Given the description of an element on the screen output the (x, y) to click on. 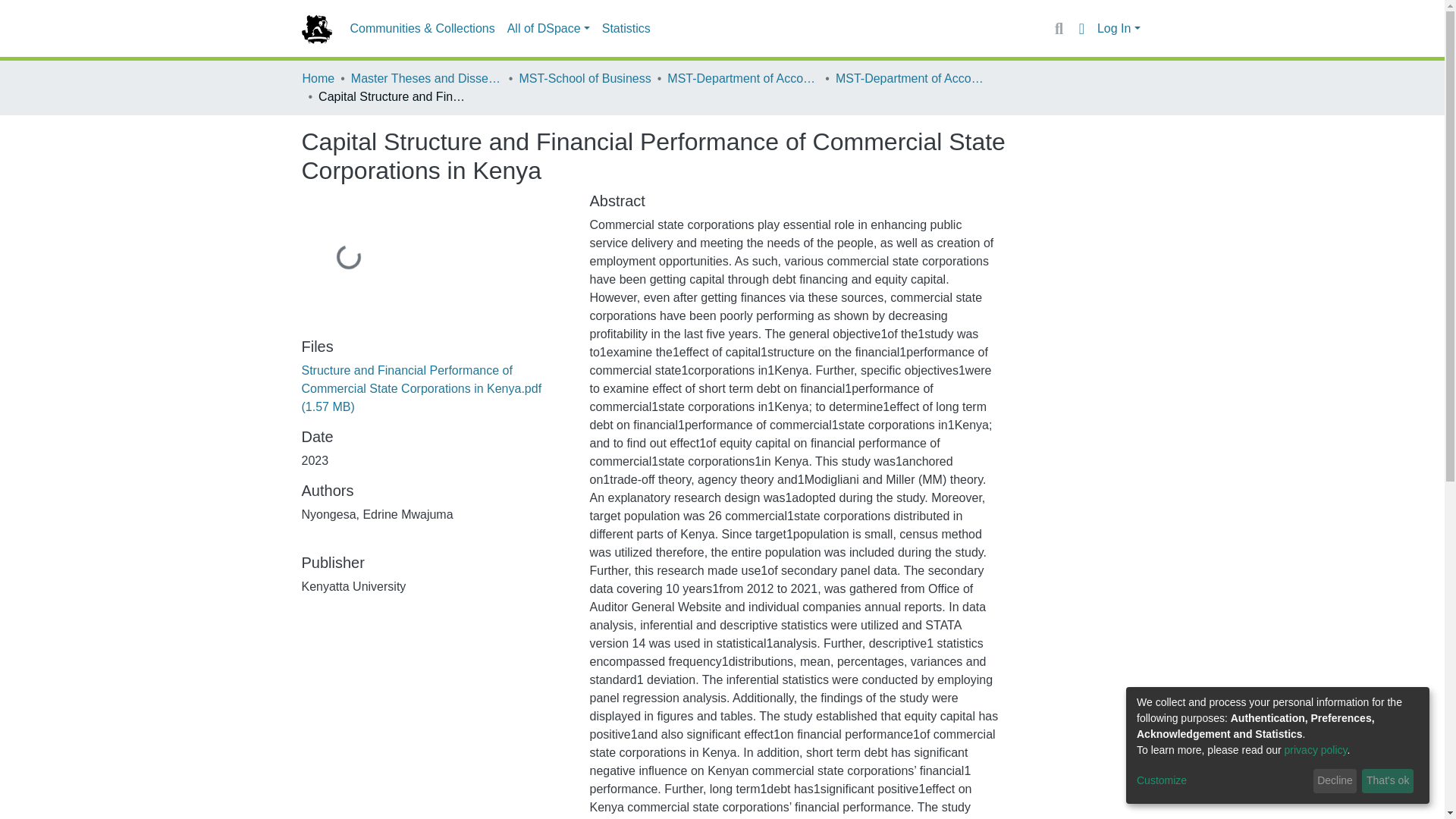
Customize (1222, 780)
Log In (1118, 28)
That's ok (1387, 781)
Statistics (625, 28)
Language switch (1081, 28)
MST-Department of Accounting and Finance (742, 78)
All of DSpace (547, 28)
Home (317, 78)
Statistics (625, 28)
Search (1058, 28)
Decline (1334, 781)
MST-Department of Accounting and Finance (911, 78)
privacy policy (1316, 749)
MST-School of Business (584, 78)
